Given the description of an element on the screen output the (x, y) to click on. 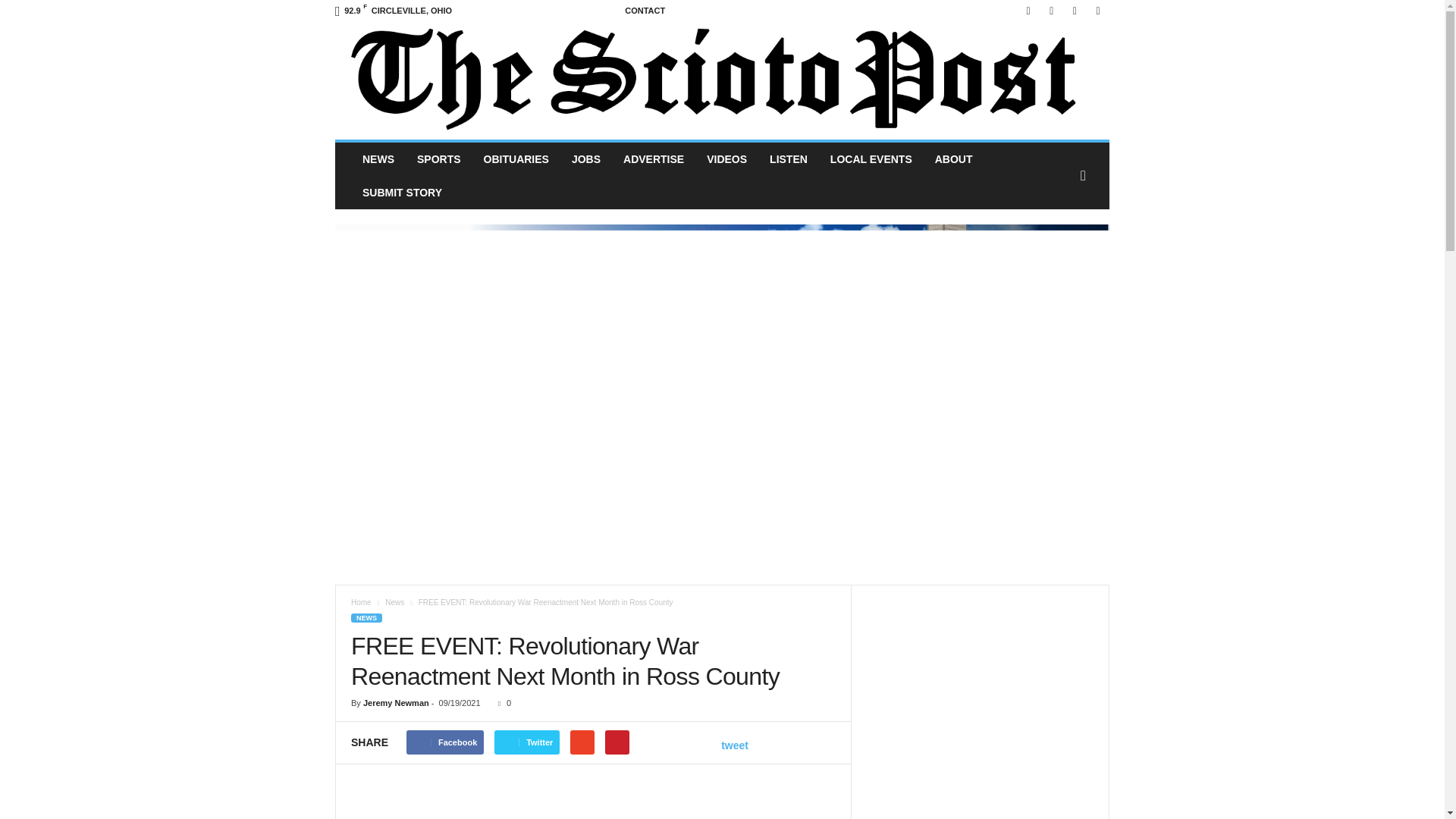
LOCAL EVENTS (870, 159)
Scioto Post (721, 80)
JOBS (585, 159)
LISTEN (788, 159)
View all posts in News (394, 602)
VIDEOS (726, 159)
NEWS (378, 159)
SPORTS (438, 159)
OBITUARIES (515, 159)
ADVERTISE (653, 159)
